Given the description of an element on the screen output the (x, y) to click on. 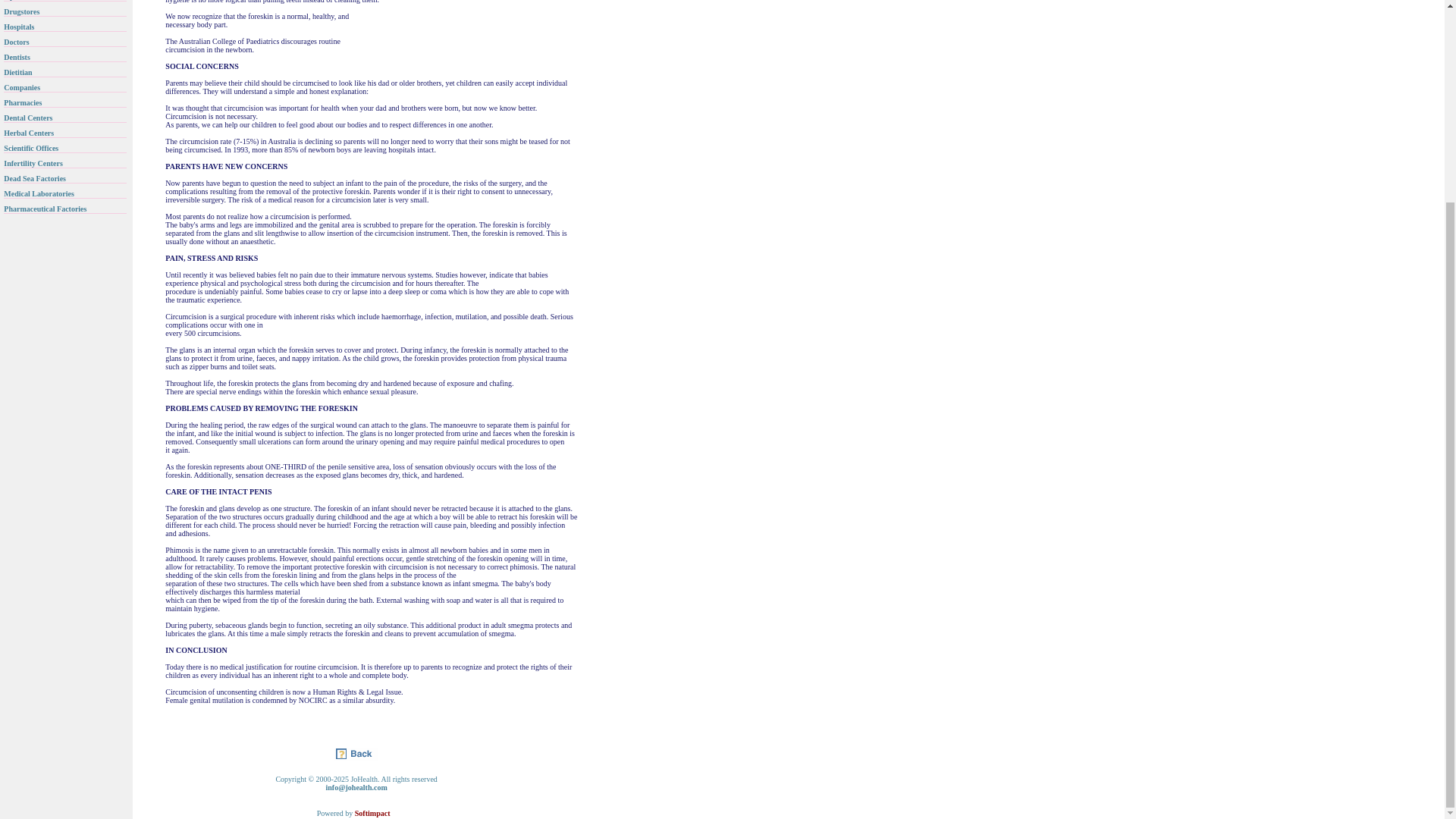
Drugstores (21, 10)
Dietitian (18, 70)
Doctors (16, 40)
Dentists (16, 55)
Optic Centers (26, 0)
Herbal Centers (28, 131)
Softimpact (372, 811)
Medical Laboratories (39, 192)
Companies (22, 85)
Pharmacies (23, 101)
Infertility Centers (33, 161)
Hospitals (18, 24)
Pharmaceutical Factories (44, 206)
Scientific Offices (31, 146)
Dead Sea Factories (34, 176)
